Given the description of an element on the screen output the (x, y) to click on. 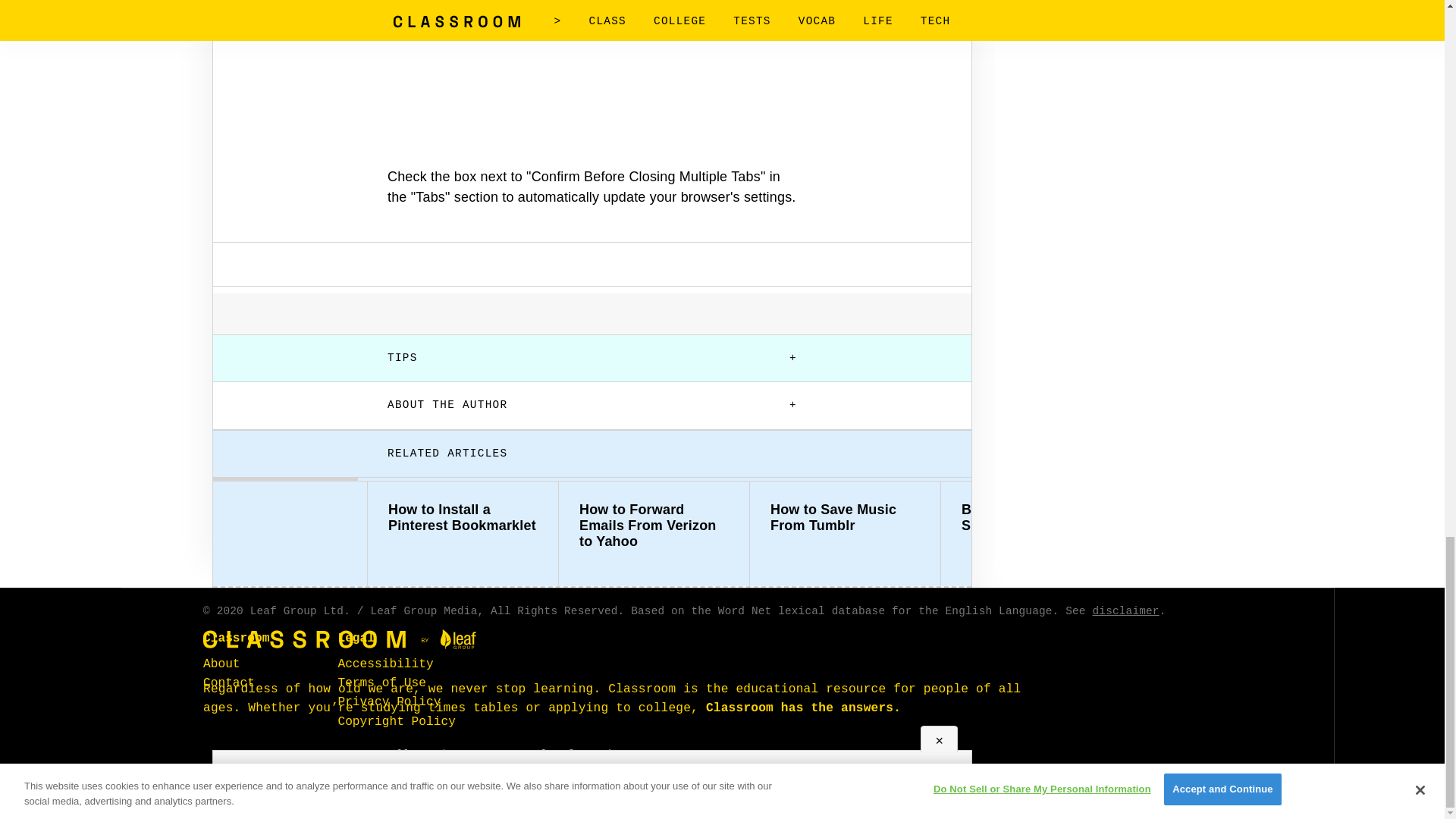
Privacy Policy (389, 702)
About (221, 663)
How to Install a Pinterest Bookmarklet (462, 517)
Do Not Sell or Share My Personal Information (481, 754)
disclaimer (1125, 611)
Contact (228, 683)
Blocking the Bing Search Engine (1035, 517)
3rd party ad content (591, 105)
How to Block an Email in Plesk (1227, 517)
Copyright Policy (395, 721)
How to Forward Emails From Verizon to Yahoo (654, 525)
How to Save Music From Tumblr (844, 517)
Accessibility (384, 663)
Terms of Use (381, 683)
